Given the description of an element on the screen output the (x, y) to click on. 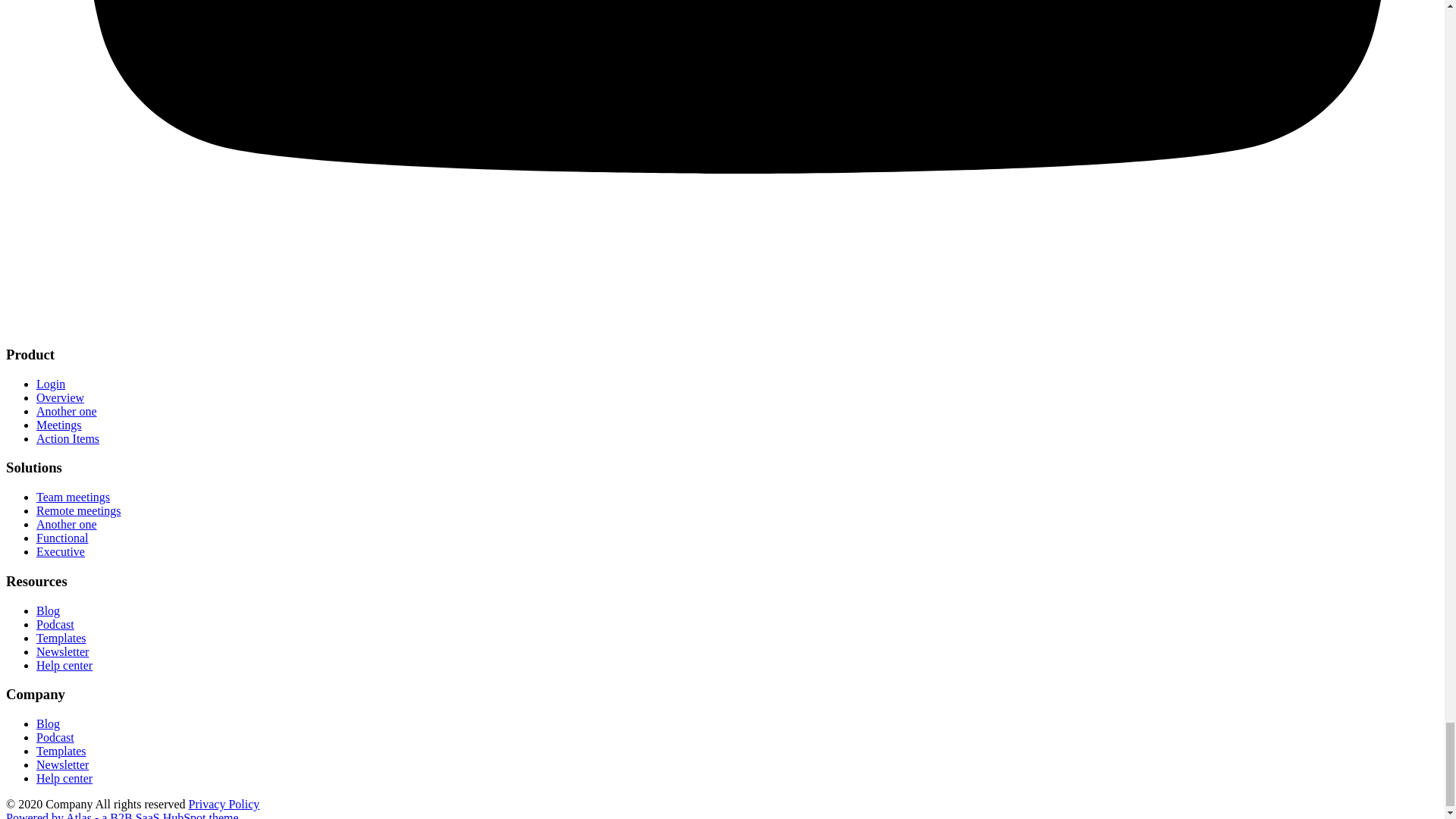
Newsletter (62, 651)
Functional (61, 537)
Templates (60, 637)
Login (50, 383)
Blog (47, 723)
Remote meetings (78, 510)
Blog (47, 610)
Meetings (58, 424)
Newsletter (62, 764)
Overview (60, 397)
Executive (60, 551)
Podcast (55, 624)
Help center (64, 778)
Another one (66, 523)
Privacy Policy (224, 803)
